Given the description of an element on the screen output the (x, y) to click on. 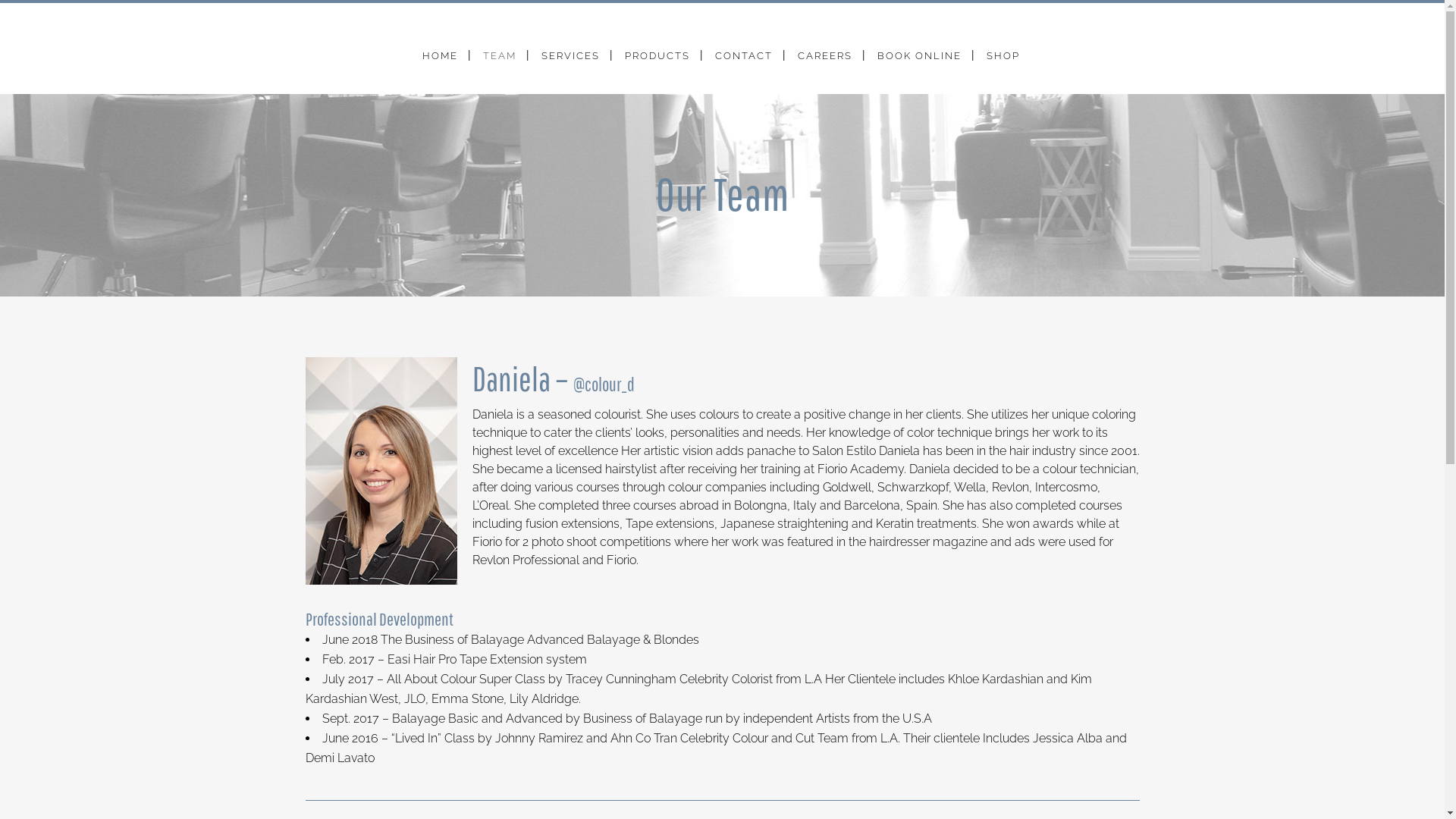
BOOK ONLINE Element type: text (919, 56)
PRODUCTS Element type: text (656, 56)
HOME Element type: text (440, 56)
SHOP Element type: text (1003, 56)
CONTACT Element type: text (743, 56)
CAREERS Element type: text (823, 56)
@colour_d Element type: text (603, 384)
SERVICES Element type: text (569, 56)
TEAM Element type: text (499, 56)
